Given the description of an element on the screen output the (x, y) to click on. 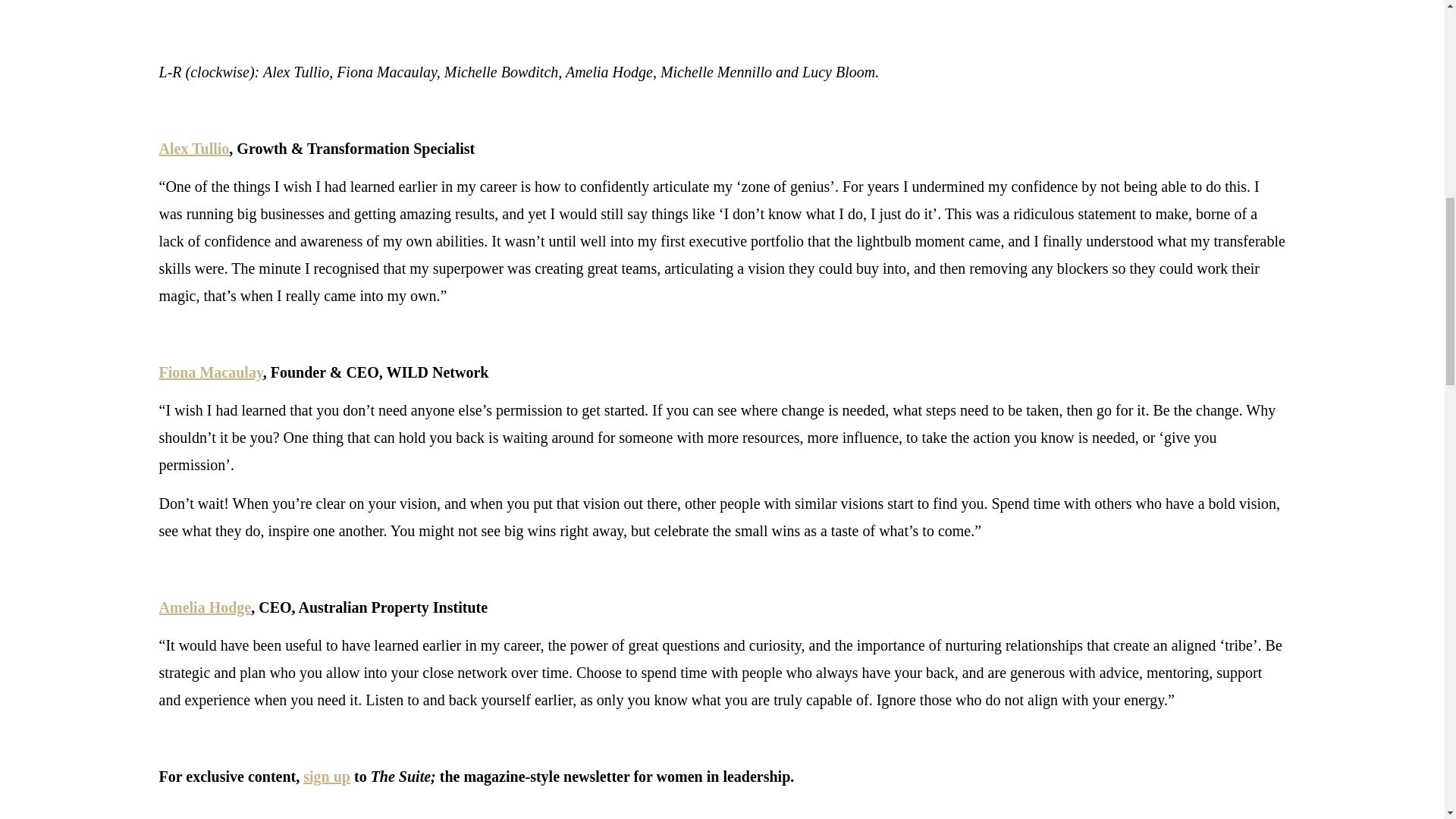
Amelia Hodge (204, 606)
Fiona Macaulay (210, 371)
sign up (326, 776)
Alex Tullio (194, 148)
